Given the description of an element on the screen output the (x, y) to click on. 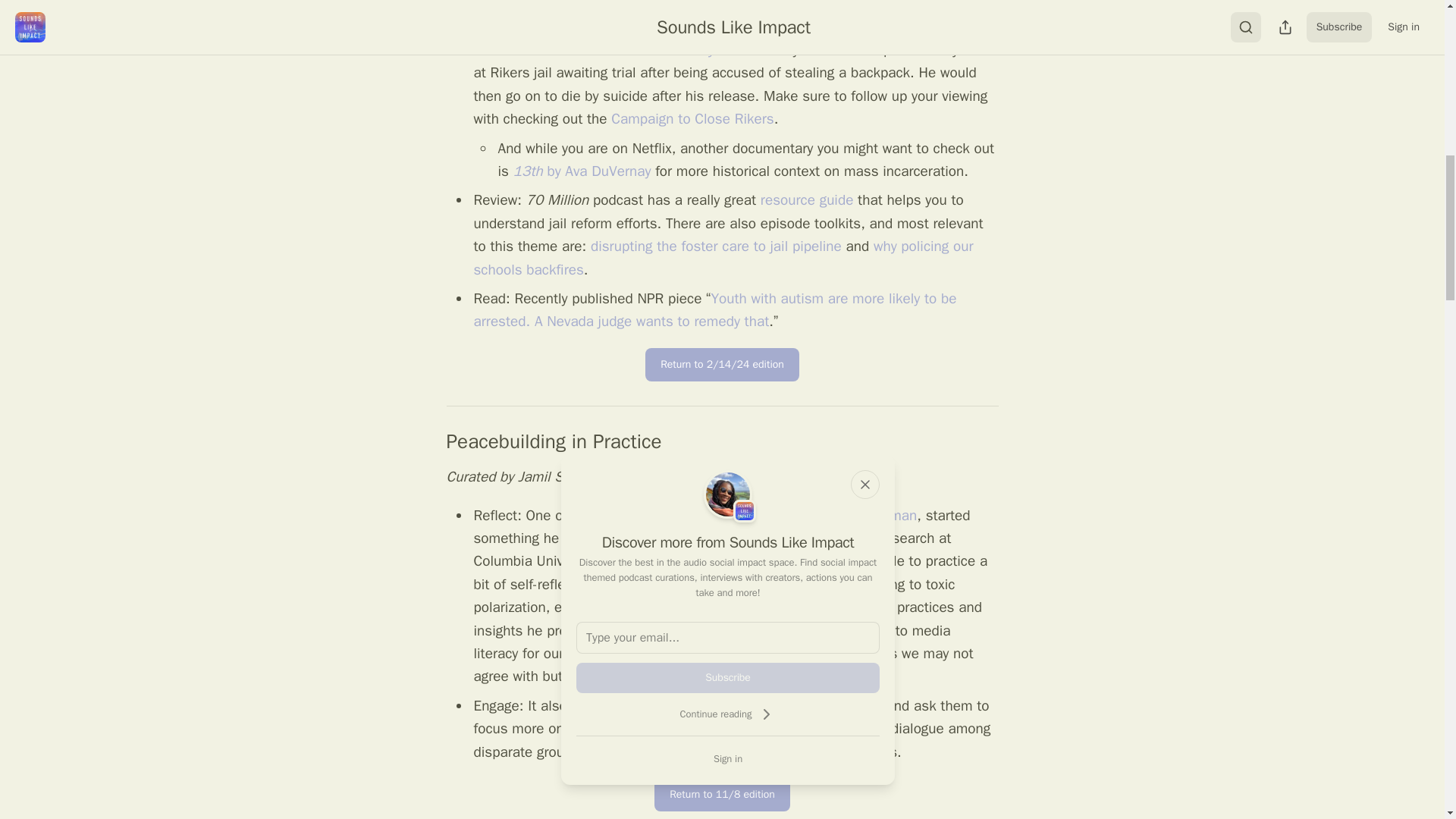
Subscribe (727, 677)
Sign in (727, 758)
Campaign to Close Rikers (692, 118)
TIME: The Kalief Browder Story (620, 49)
